Given the description of an element on the screen output the (x, y) to click on. 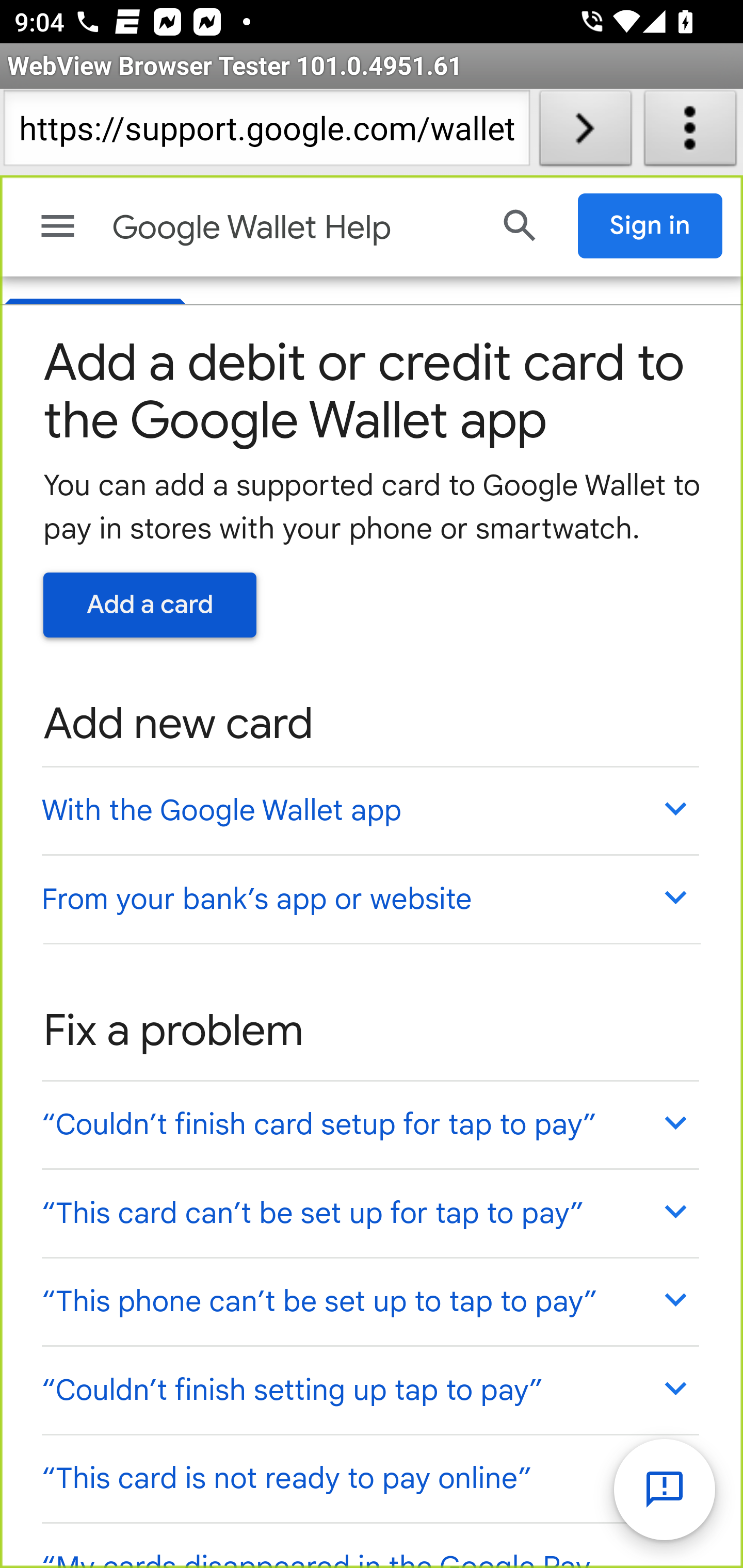
Load URL (585, 132)
About WebView (690, 132)
Main menu (58, 226)
Google Wallet Help (292, 227)
Search Help Center (519, 225)
Sign in (650, 225)
Add a card (150, 605)
With the Google Wallet app (369, 809)
From your bank’s app or website (369, 898)
“Couldn’t finish card setup for tap to pay” (369, 1123)
“This card can’t be set up for tap to pay” (369, 1213)
“This phone can’t be set up to tap to pay” (369, 1299)
“Couldn’t finish setting up tap to pay” (369, 1389)
“This card is not ready to pay online” (369, 1477)
